Given the description of an element on the screen output the (x, y) to click on. 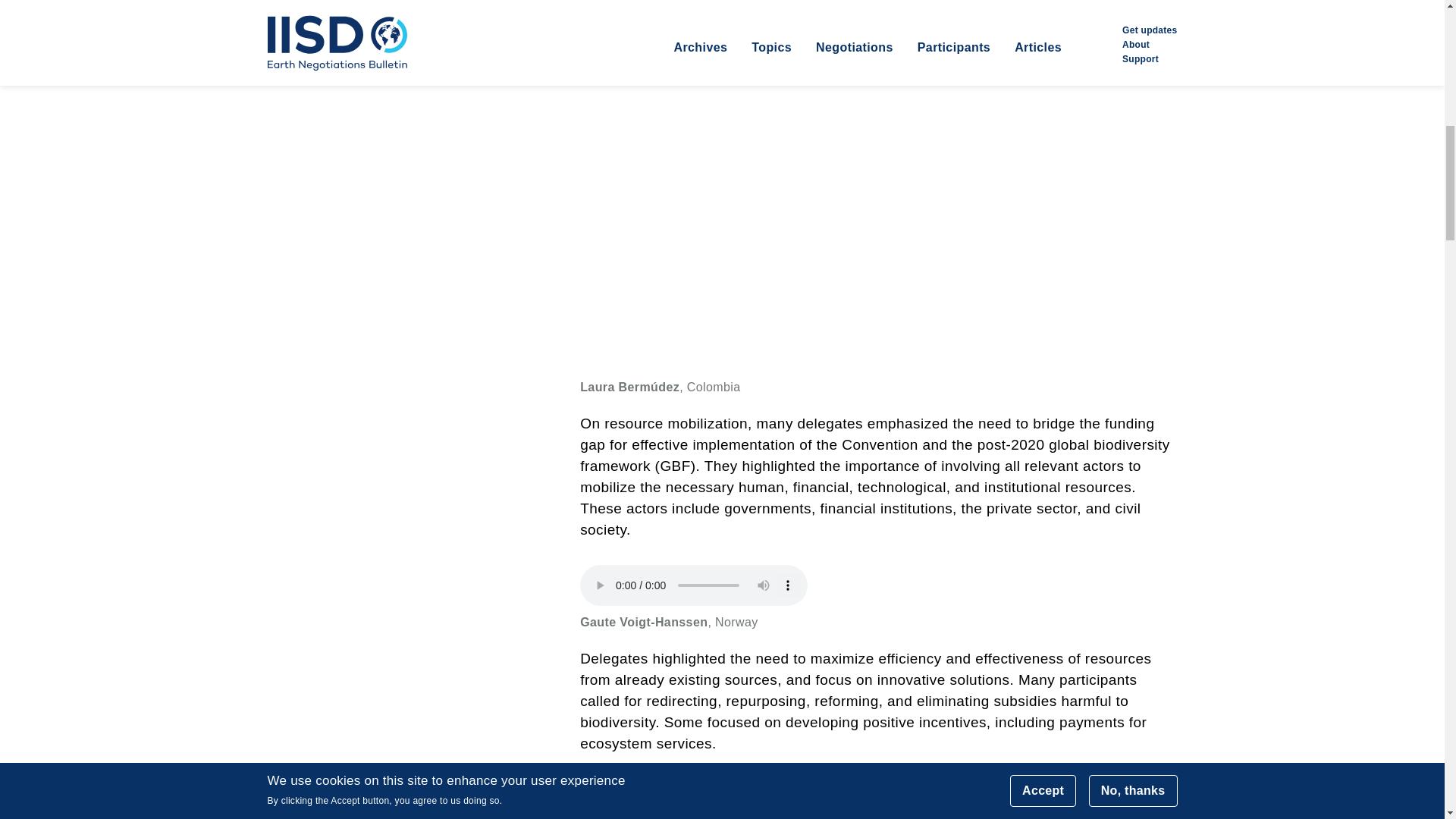
Li Ching Lim, on behalf of the CBD Alliance (877, 798)
